Given the description of an element on the screen output the (x, y) to click on. 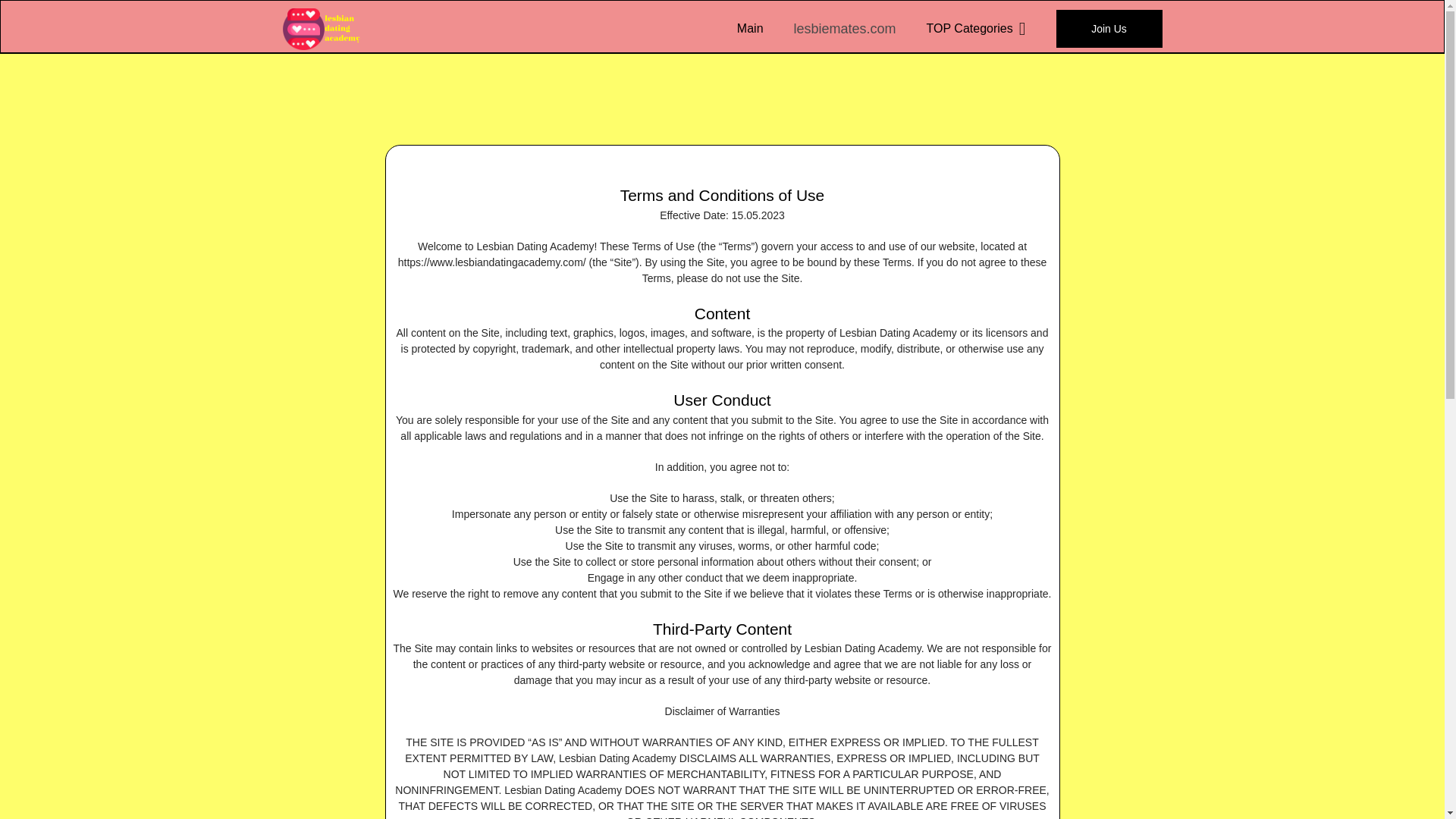
Main (749, 28)
Join Us (1108, 28)
lesbiemates.com (844, 28)
